Given the description of an element on the screen output the (x, y) to click on. 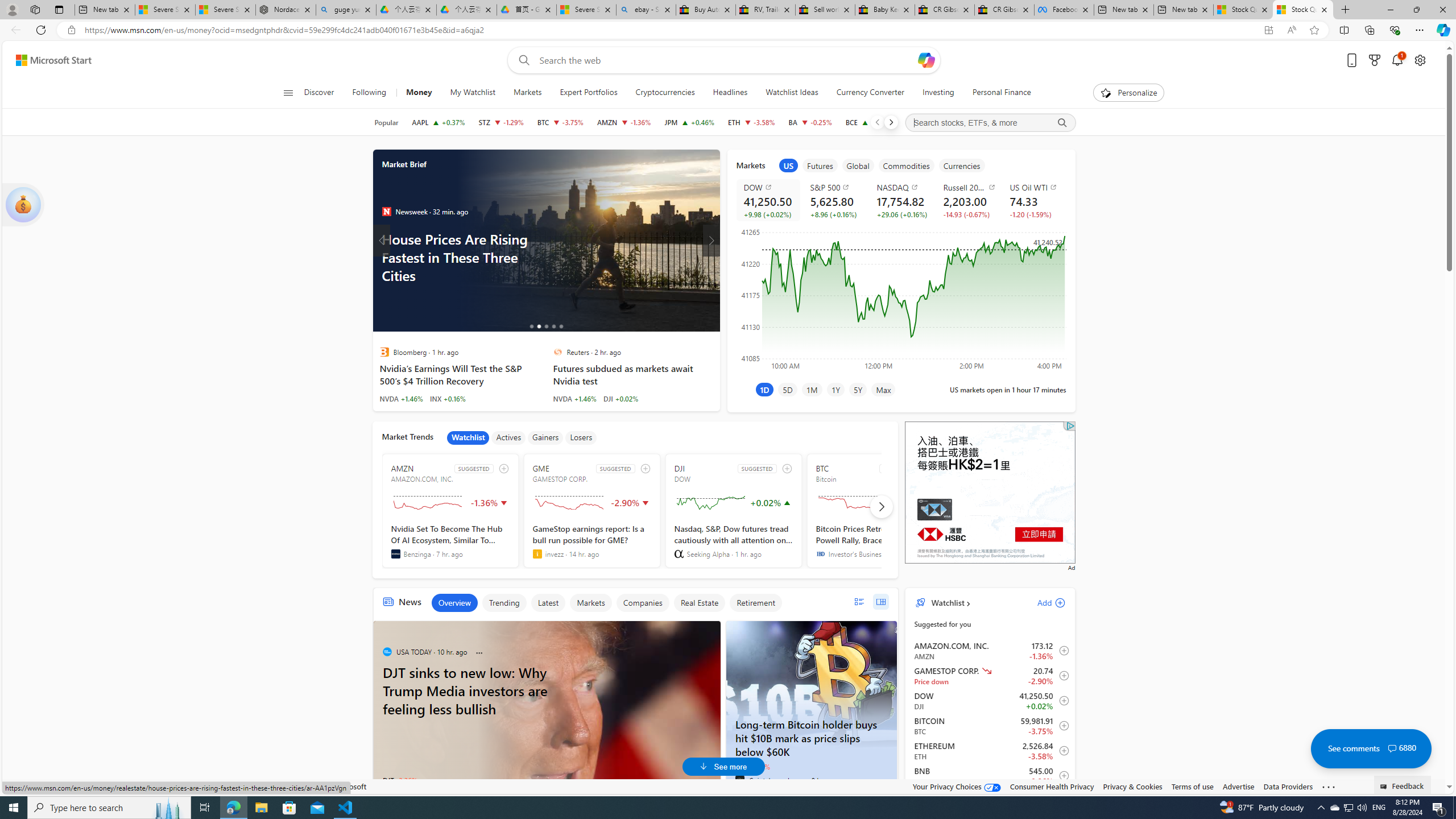
Max (882, 389)
Open settings (1420, 60)
Overview (453, 602)
Cointelegraph.com (739, 779)
AMZN AMAZON.COM, INC. decrease 173.12 -2.38 -1.36% item0 (989, 650)
Class: feedback_link_icon-DS-EntryPoint1-1 (1384, 786)
Previous (876, 122)
ETH Ethereum decrease 2,526.84 -90.44 -3.58% item4 (989, 750)
guge yunpan - Search (346, 9)
